Given the description of an element on the screen output the (x, y) to click on. 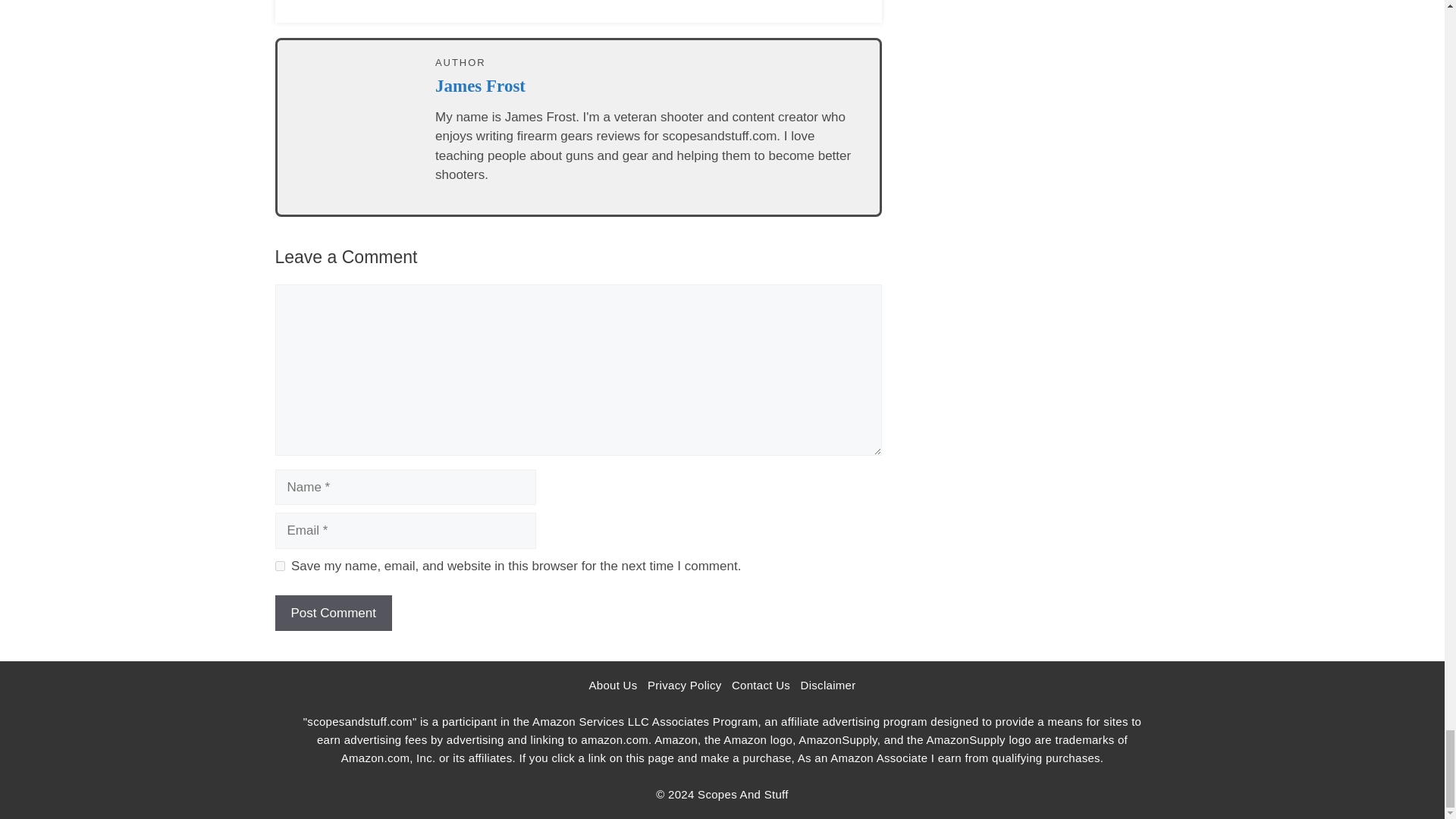
Post Comment (333, 613)
yes (279, 565)
